Given the description of an element on the screen output the (x, y) to click on. 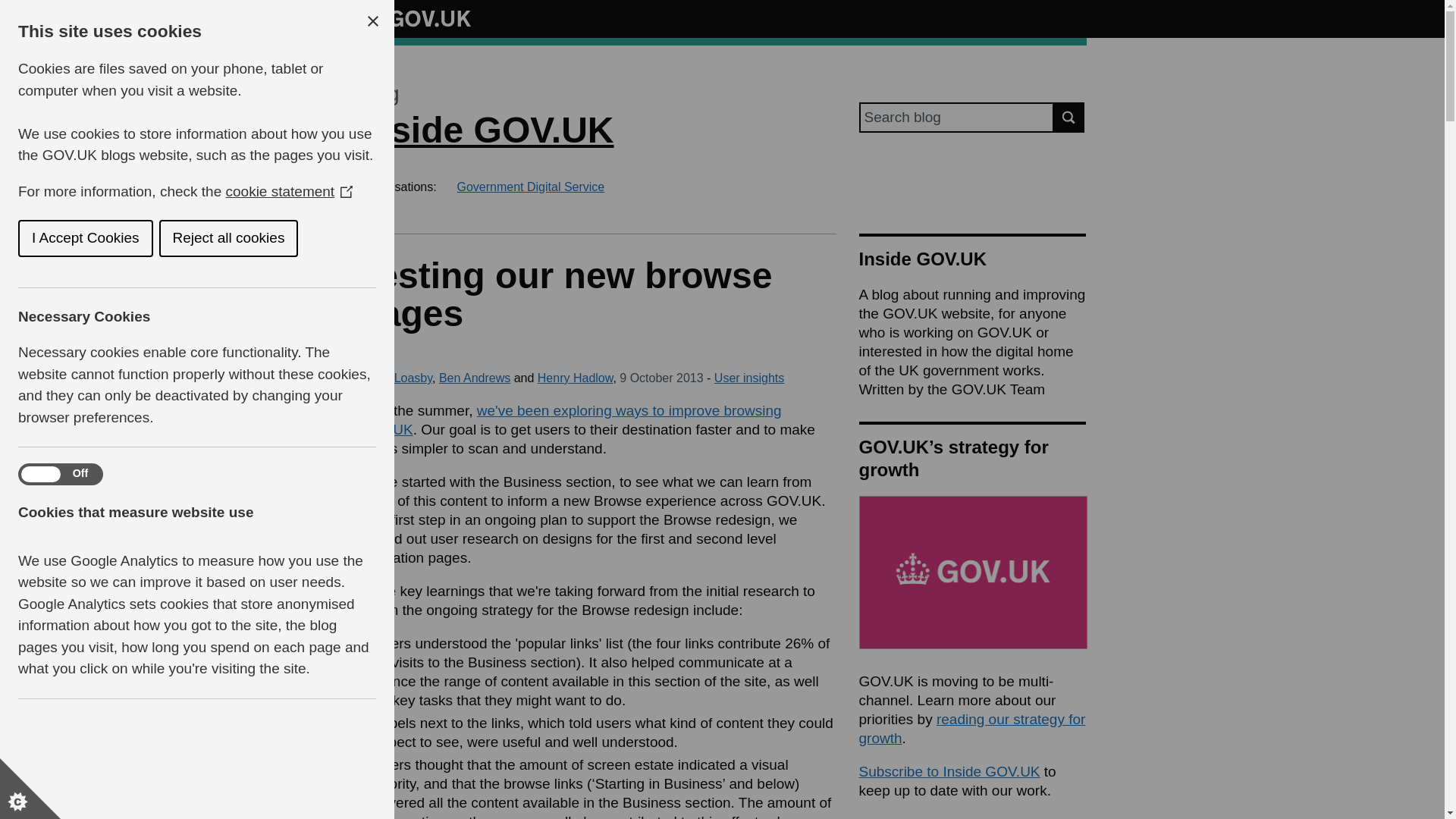
reading our strategy for growth (971, 728)
GOV.UK (414, 15)
Posts by Ben Andrews (475, 377)
we've been exploring ways to improve browsing GOV.UK (569, 419)
Posts by Karen Loasby (395, 377)
Posts by Henry Hadlow (574, 377)
Blog (378, 93)
GOV.UK (414, 18)
User insights (749, 377)
Search (1069, 117)
